Given the description of an element on the screen output the (x, y) to click on. 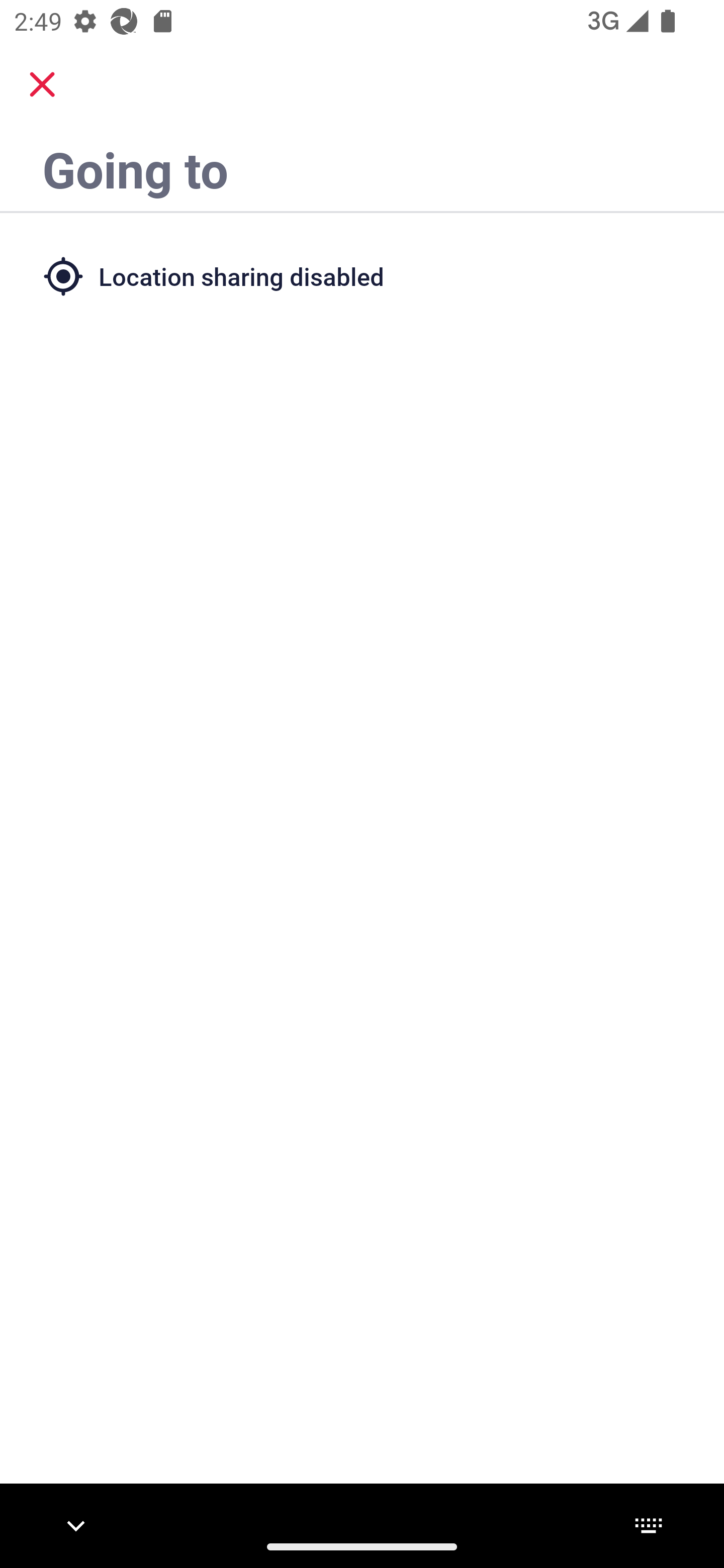
close. (42, 84)
Location sharing disabled (362, 275)
